Given the description of an element on the screen output the (x, y) to click on. 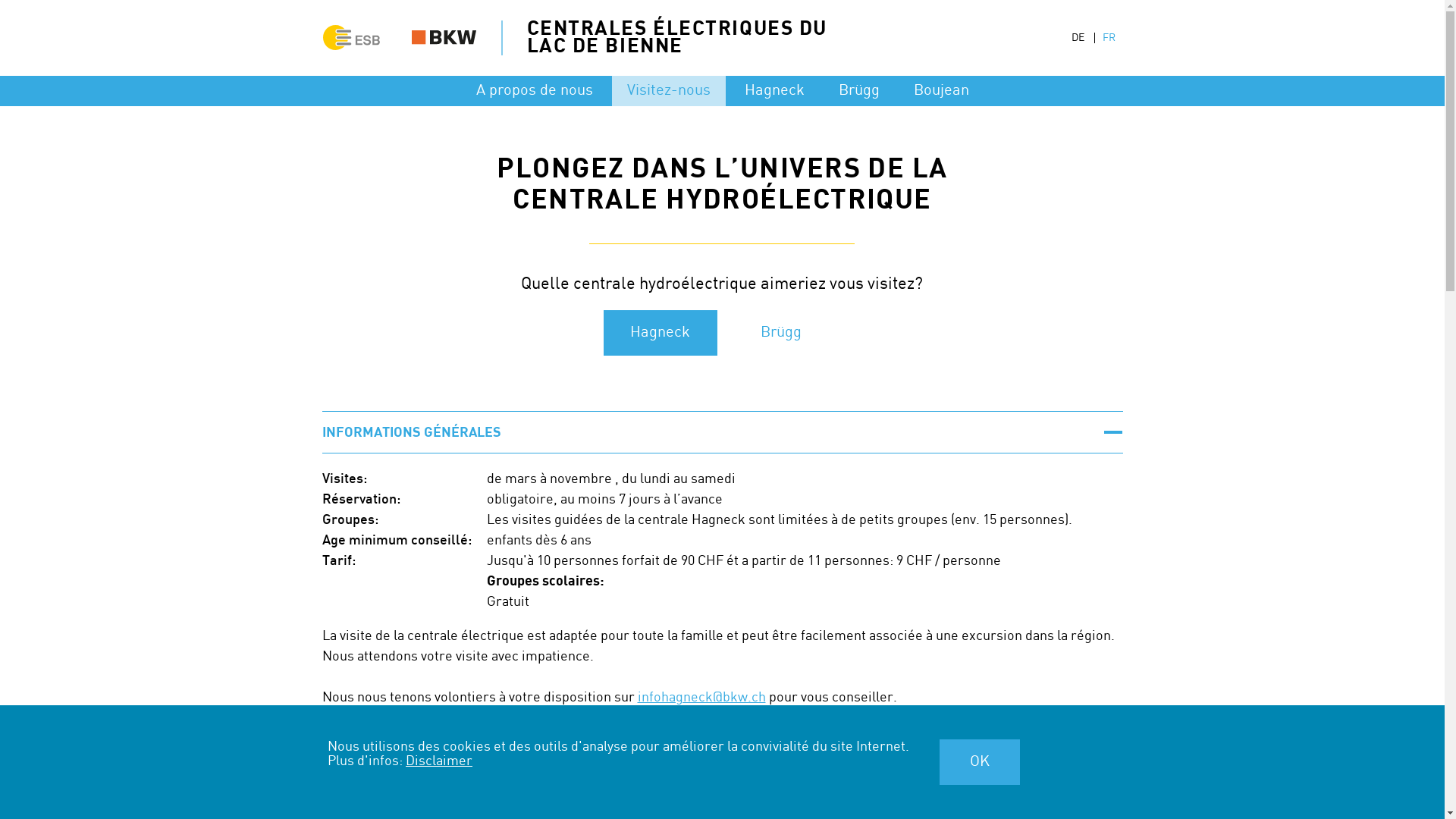
Hagneck Element type: text (774, 90)
Boujean Element type: text (940, 90)
FR Element type: text (1108, 37)
Hagneck Element type: text (660, 332)
DE Element type: text (1076, 37)
Visitez-nous Element type: text (667, 90)
infohagneck@bkw.ch Element type: text (701, 697)
A propos de nous Element type: text (534, 90)
OK Element type: text (979, 761)
Disclaimer Element type: text (438, 760)
